Given the description of an element on the screen output the (x, y) to click on. 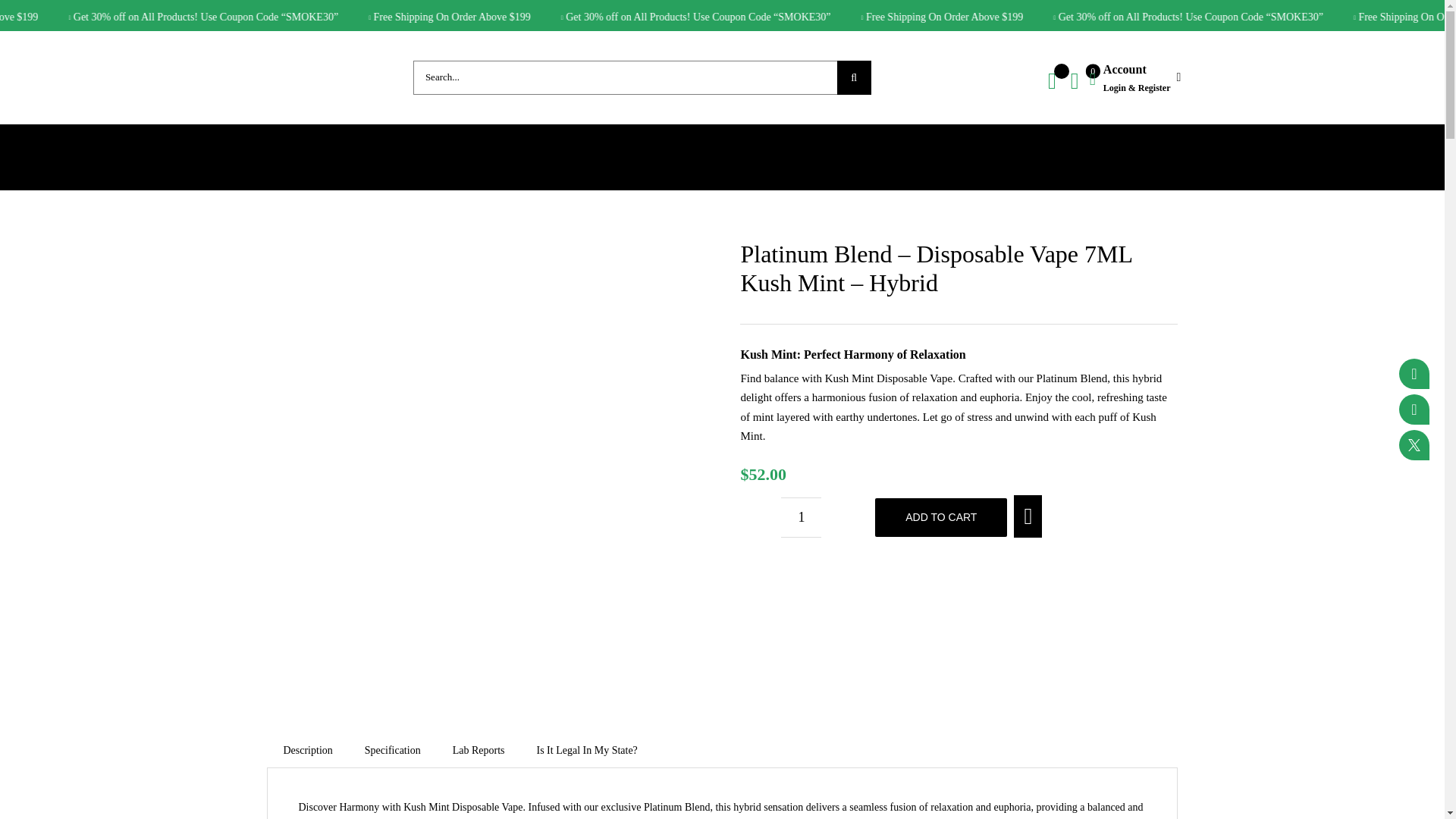
Facebook (1414, 373)
Twitter (1414, 444)
Account (1134, 77)
Log In (1216, 243)
1 (800, 517)
Instagram (1414, 409)
